Given the description of an element on the screen output the (x, y) to click on. 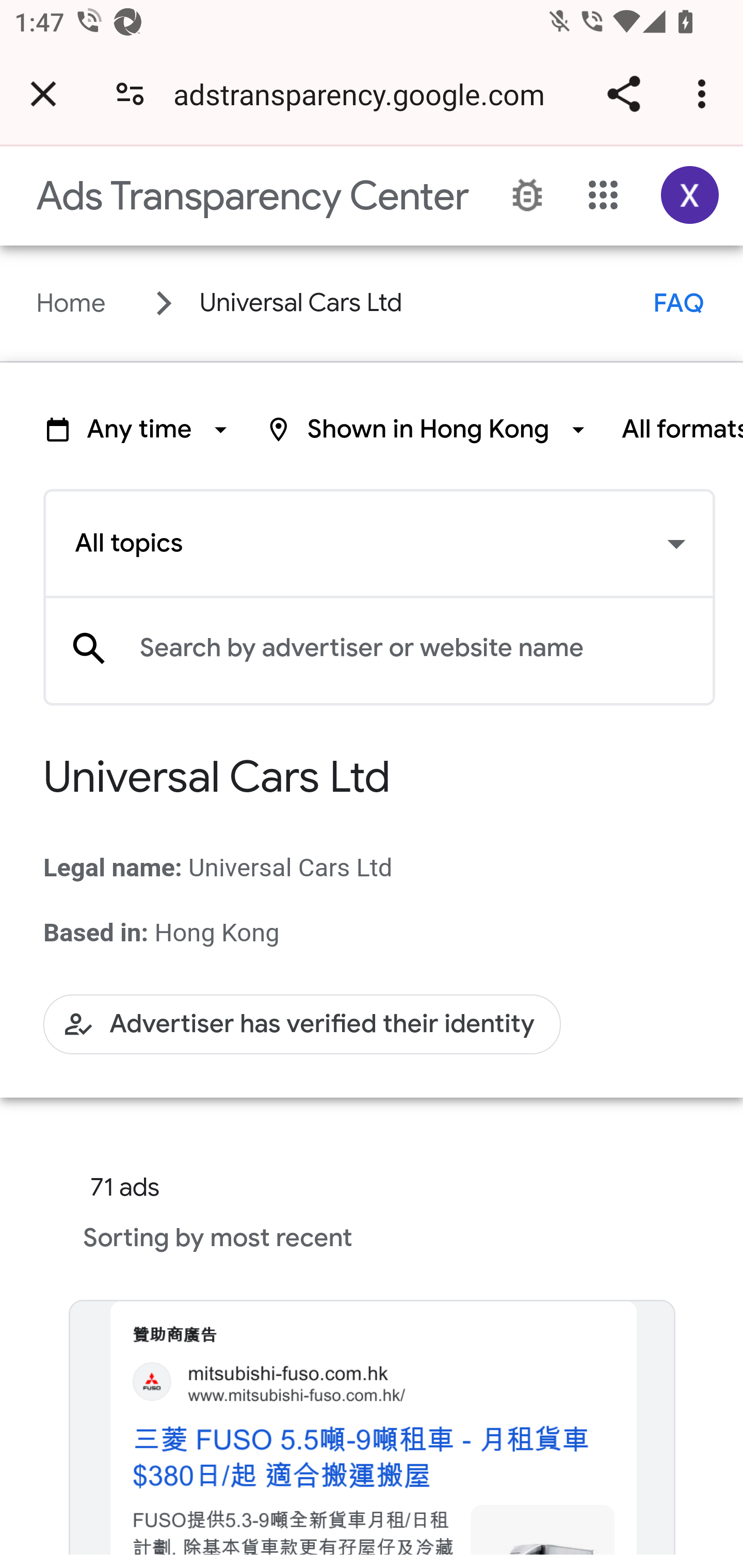
Close tab (43, 93)
Share (623, 93)
Customize and control Google Chrome (705, 93)
Connection is secure (129, 93)
adstransparency.google.com (366, 93)
Send Bug Report (526, 195)
Google apps (603, 195)
Google Account: Xiaoran (zxrappiumtest@gmail.com) (690, 195)
Home (71, 303)
FAQ (678, 303)
Date range filter button (139, 428)
Region selection filter button (428, 428)
Ad format filter button: selected All formats (682, 428)
All topics (378, 543)
Advertiser has verified their identity (302, 1023)
Advertisement (1 of 40) (371, 1433)
